Given the description of an element on the screen output the (x, y) to click on. 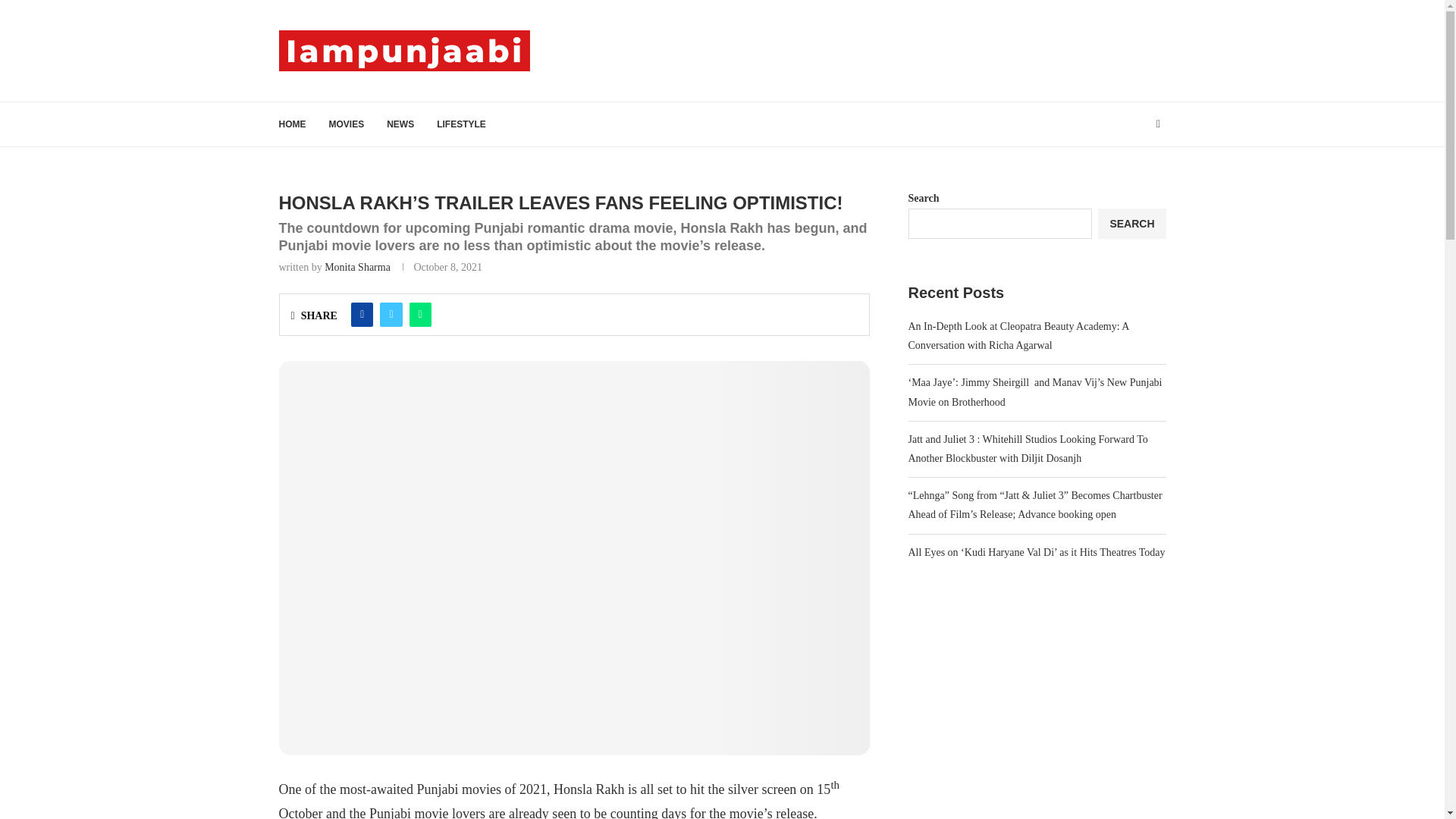
Monita Sharma (357, 266)
LIFESTYLE (461, 124)
SEARCH (1131, 223)
